Given the description of an element on the screen output the (x, y) to click on. 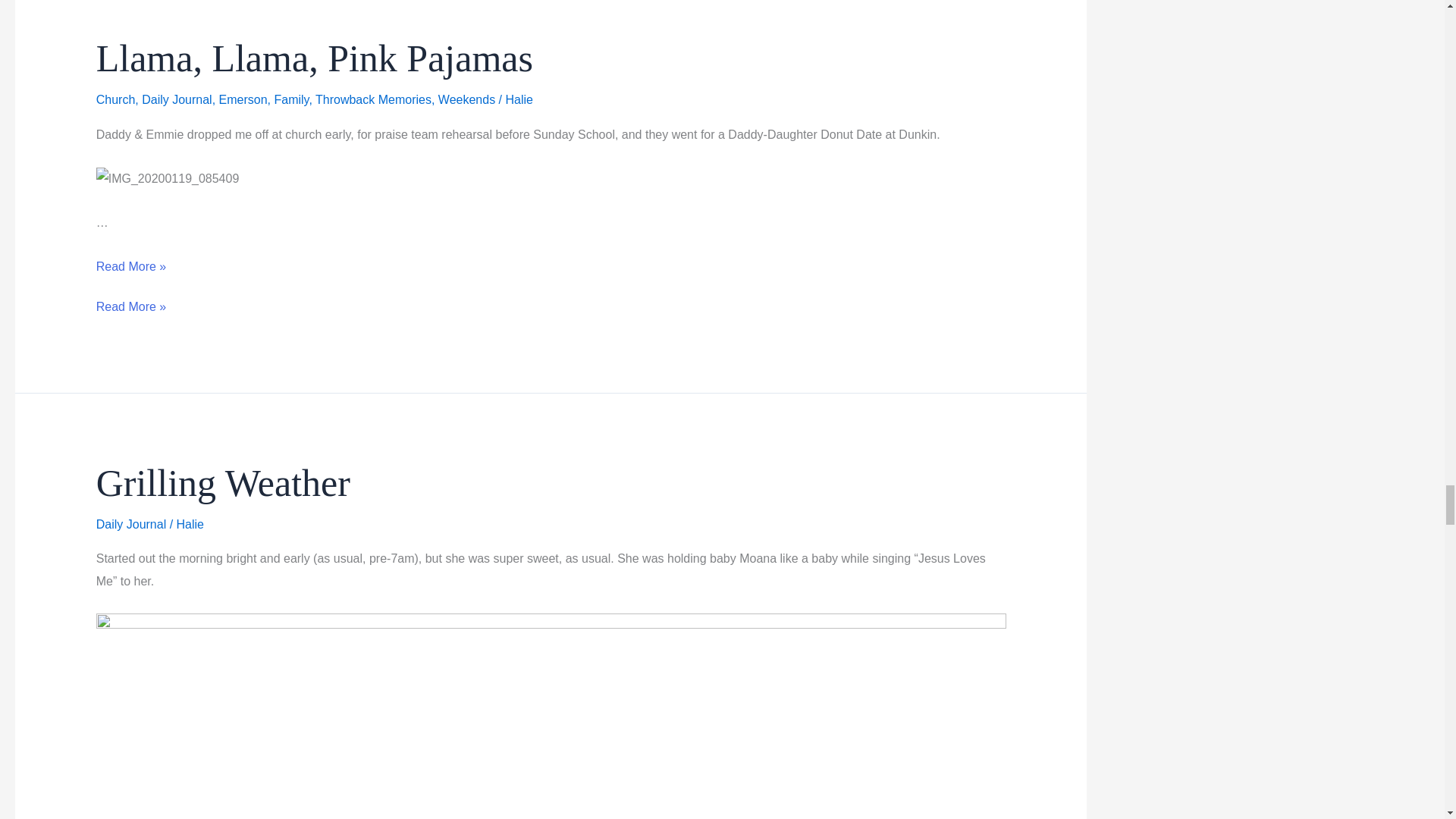
View all posts by Halie (518, 99)
View all posts by Halie (189, 523)
